Given the description of an element on the screen output the (x, y) to click on. 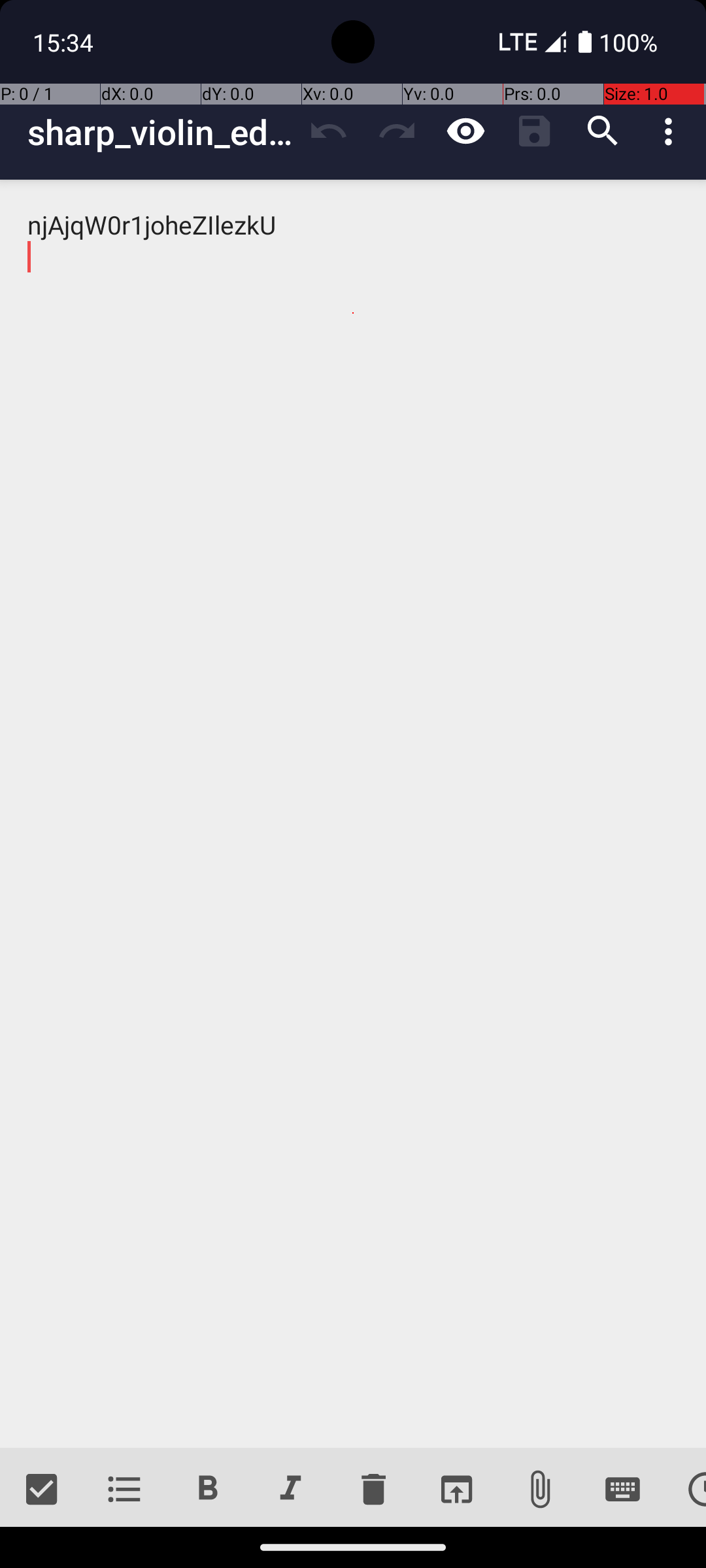
sharp_violin_edited Element type: android.widget.TextView (160, 131)
njAjqW0r1joheZIlezkU
 Element type: android.widget.EditText (353, 813)
